Given the description of an element on the screen output the (x, y) to click on. 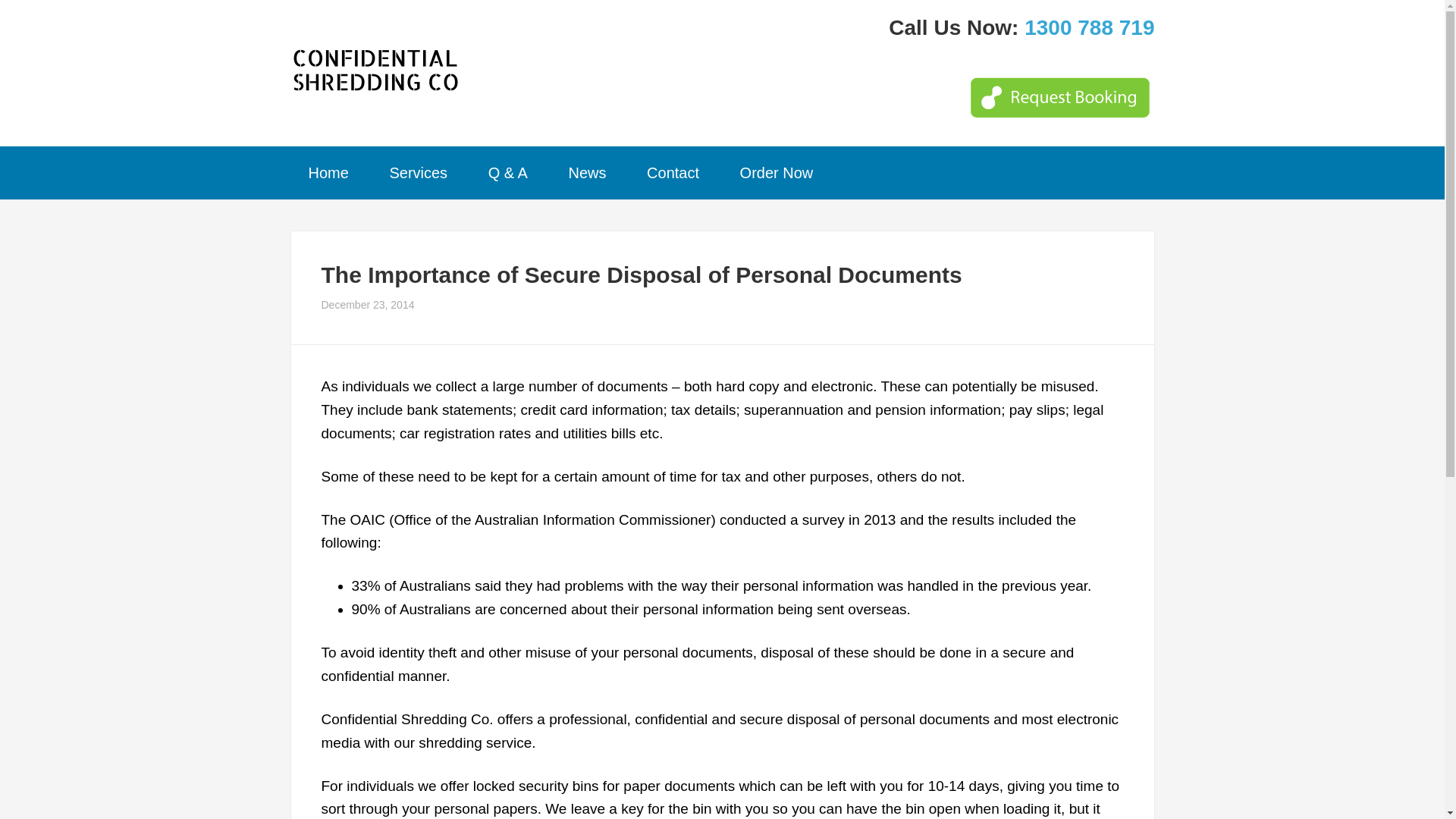
Confidential Shredding Co (375, 71)
Services (418, 172)
Home (327, 172)
Contact (672, 172)
1300 788 719 (1089, 27)
Order Now (776, 172)
News (587, 172)
